Given the description of an element on the screen output the (x, y) to click on. 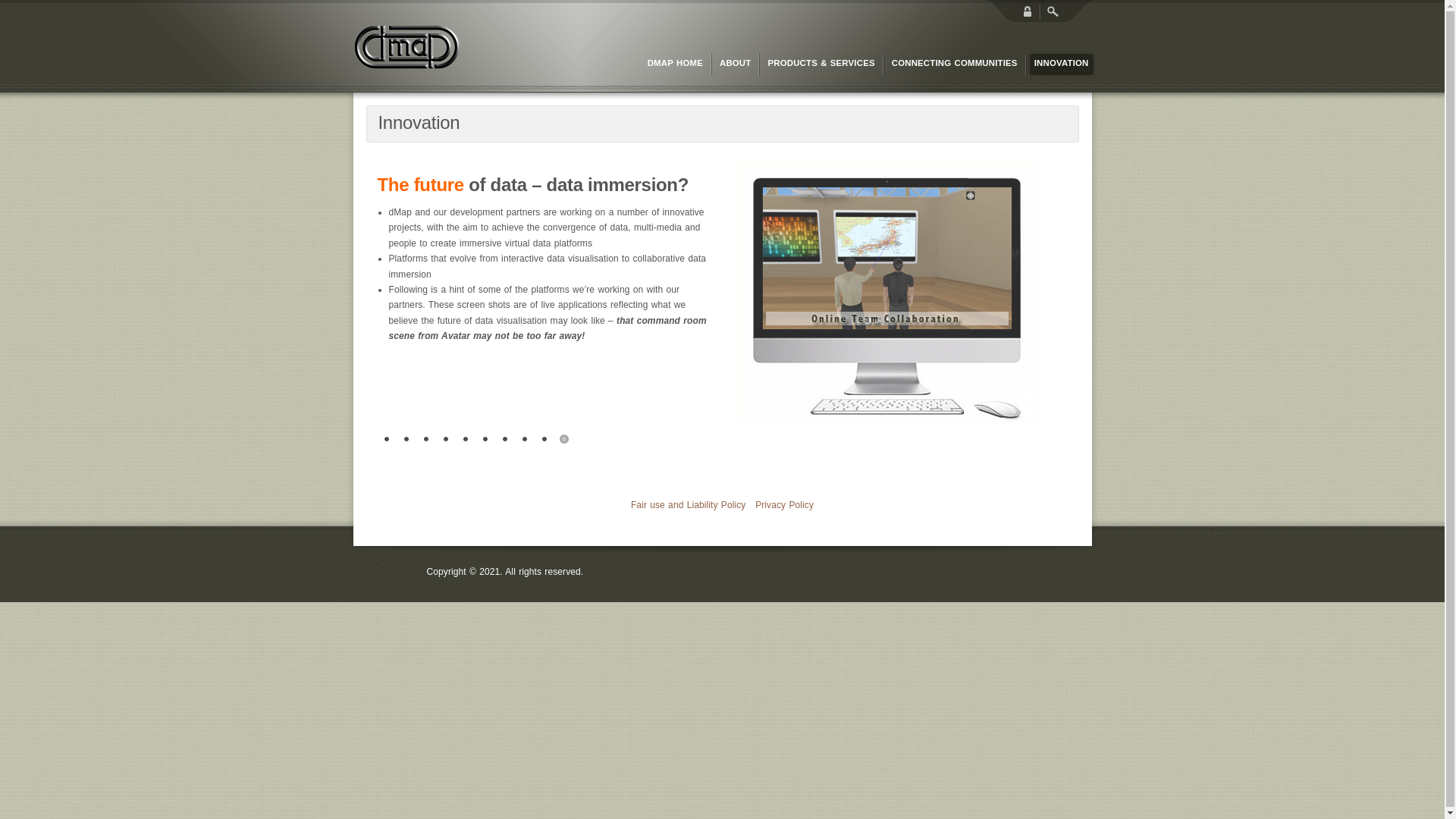
# Element type: text (524, 439)
ABOUT Element type: text (735, 64)
# Element type: text (406, 439)
CONNECTING COMMUNITIES Element type: text (954, 64)
# Element type: text (426, 439)
DMAP HOME Element type: text (675, 64)
# Element type: text (445, 439)
# Element type: text (504, 439)
PRODUCTS & SERVICES Element type: text (820, 64)
# Element type: text (485, 439)
INNOVATION Element type: text (1061, 64)
login Element type: text (1027, 11)
Fair use and Liability Policy Element type: text (688, 504)
# Element type: text (564, 439)
Privacy Policy Element type: text (784, 504)
# Element type: text (386, 439)
# Element type: text (544, 439)
# Element type: text (465, 439)
Open Element type: text (1051, 11)
